Given the description of an element on the screen output the (x, y) to click on. 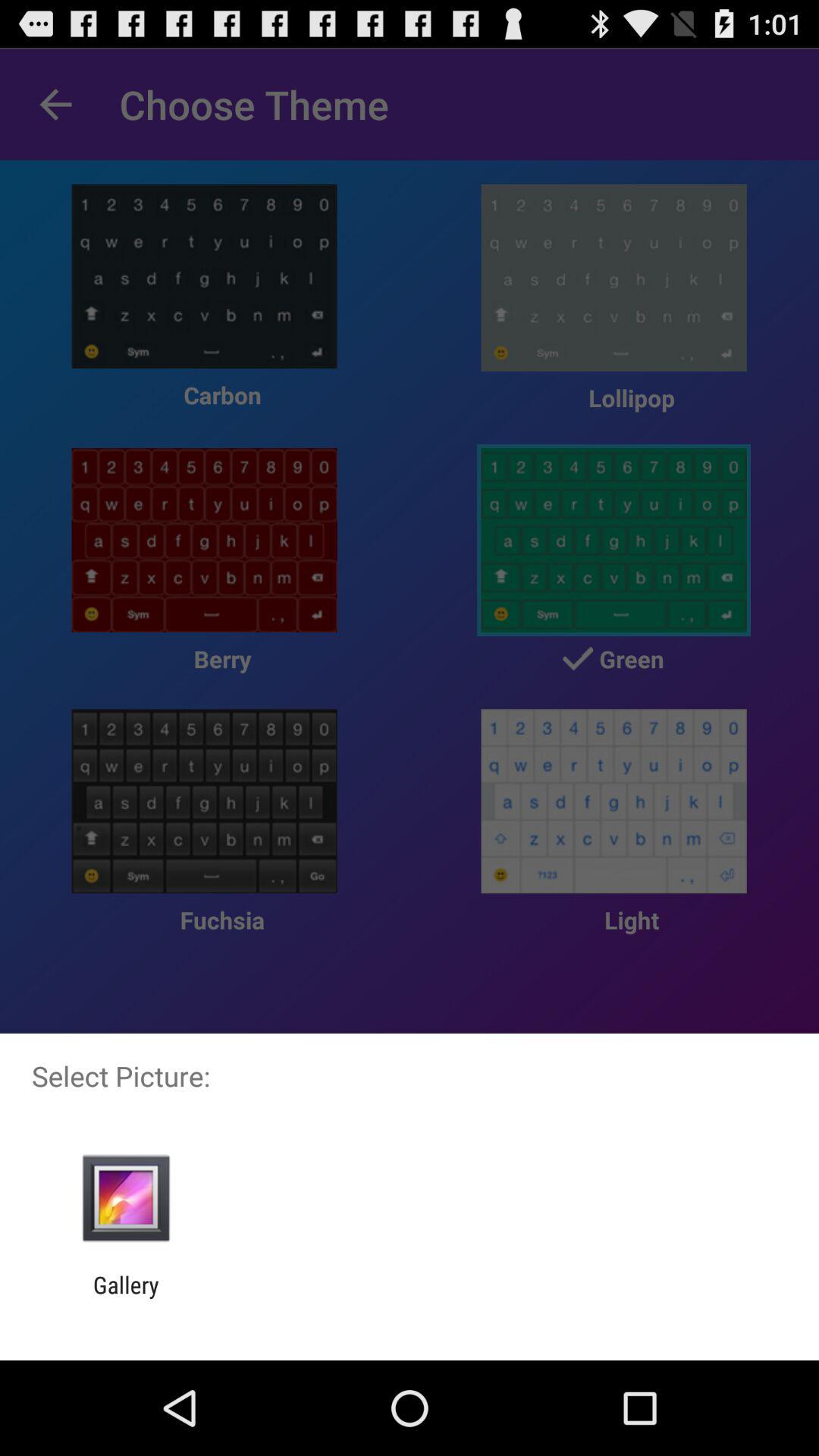
press item above gallery icon (126, 1198)
